Given the description of an element on the screen output the (x, y) to click on. 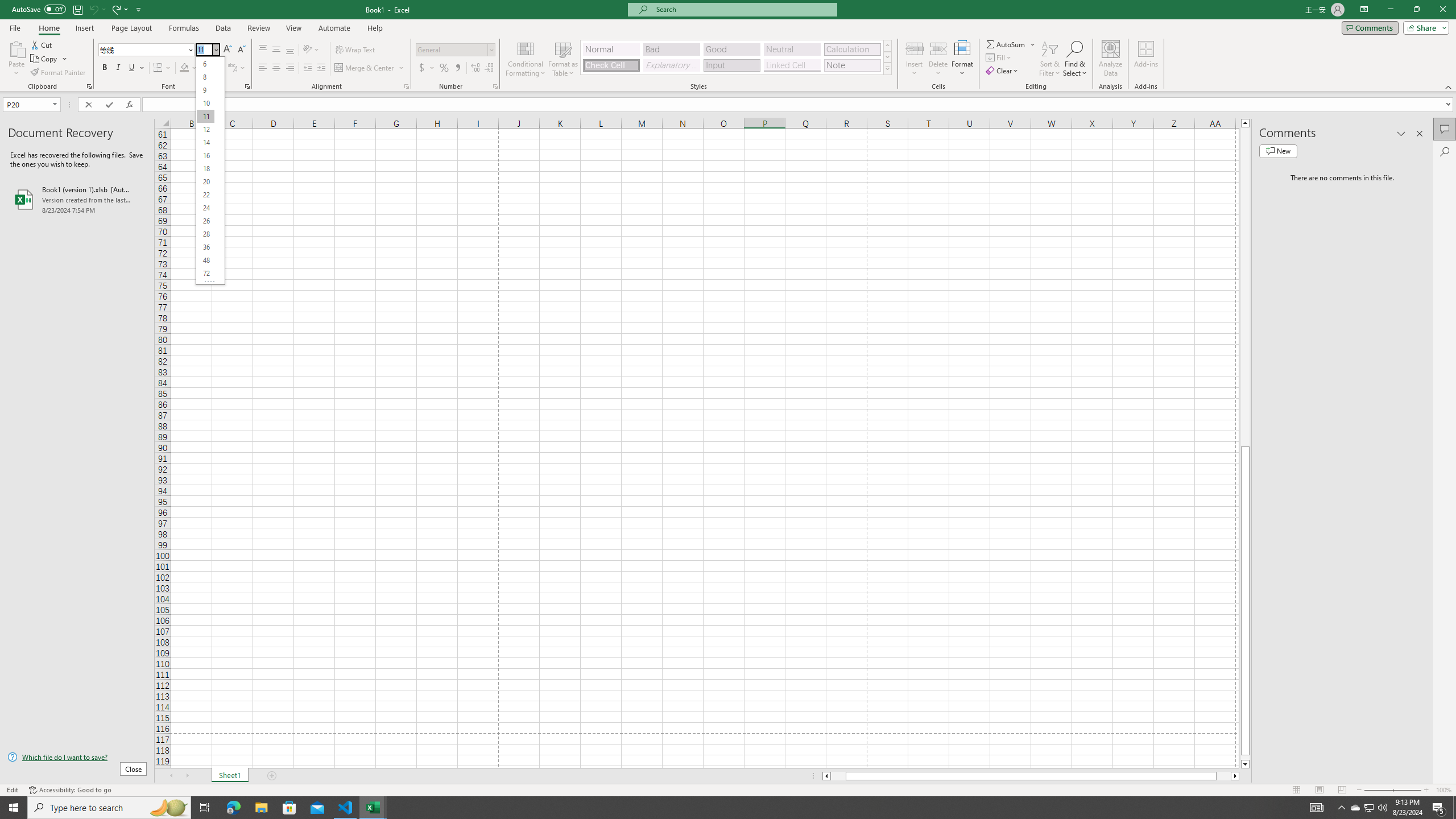
Note (852, 65)
File Tab (15, 27)
Borders (162, 67)
Which file do I want to save? (77, 757)
Cell Styles (887, 68)
Font Size (210, 170)
36 (205, 246)
AutoSum (1011, 44)
Copy (45, 58)
Delete Cells... (938, 48)
Font Size (204, 49)
Data (223, 28)
Zoom (1392, 790)
11 (205, 115)
Column right (1235, 775)
